Given the description of an element on the screen output the (x, y) to click on. 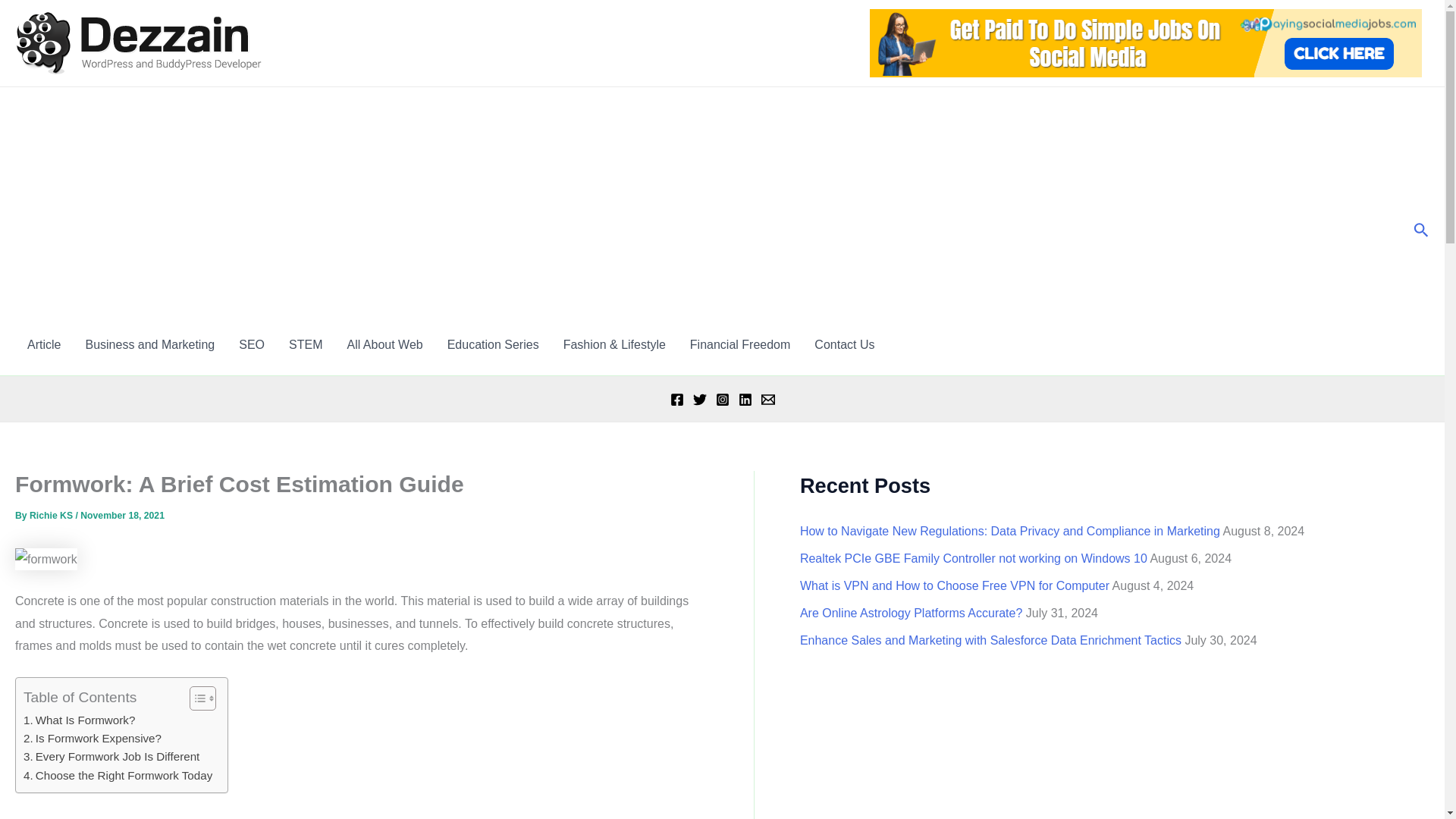
View all posts by Richie KS (52, 515)
Is Formwork Expensive? (92, 738)
Every Formwork Job Is Different (111, 756)
STEM (305, 344)
What Is Formwork? (79, 720)
Financial Freedom (740, 344)
Article (43, 344)
Is Formwork Expensive? (92, 738)
Every Formwork Job Is Different (111, 756)
Education Series (493, 344)
